Given the description of an element on the screen output the (x, y) to click on. 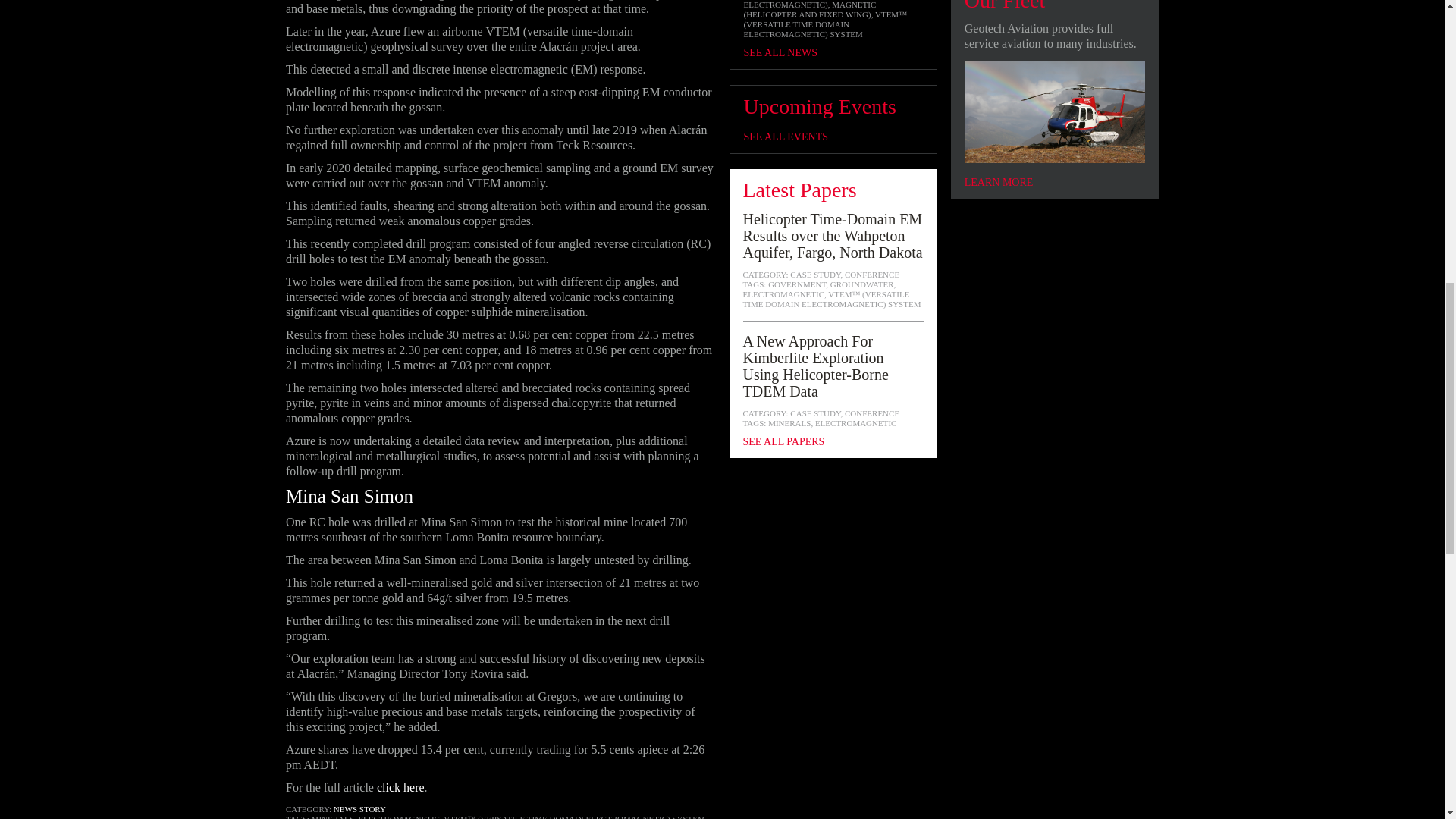
MINERALS (332, 816)
click here (401, 787)
NEWS STORY (359, 809)
